Given the description of an element on the screen output the (x, y) to click on. 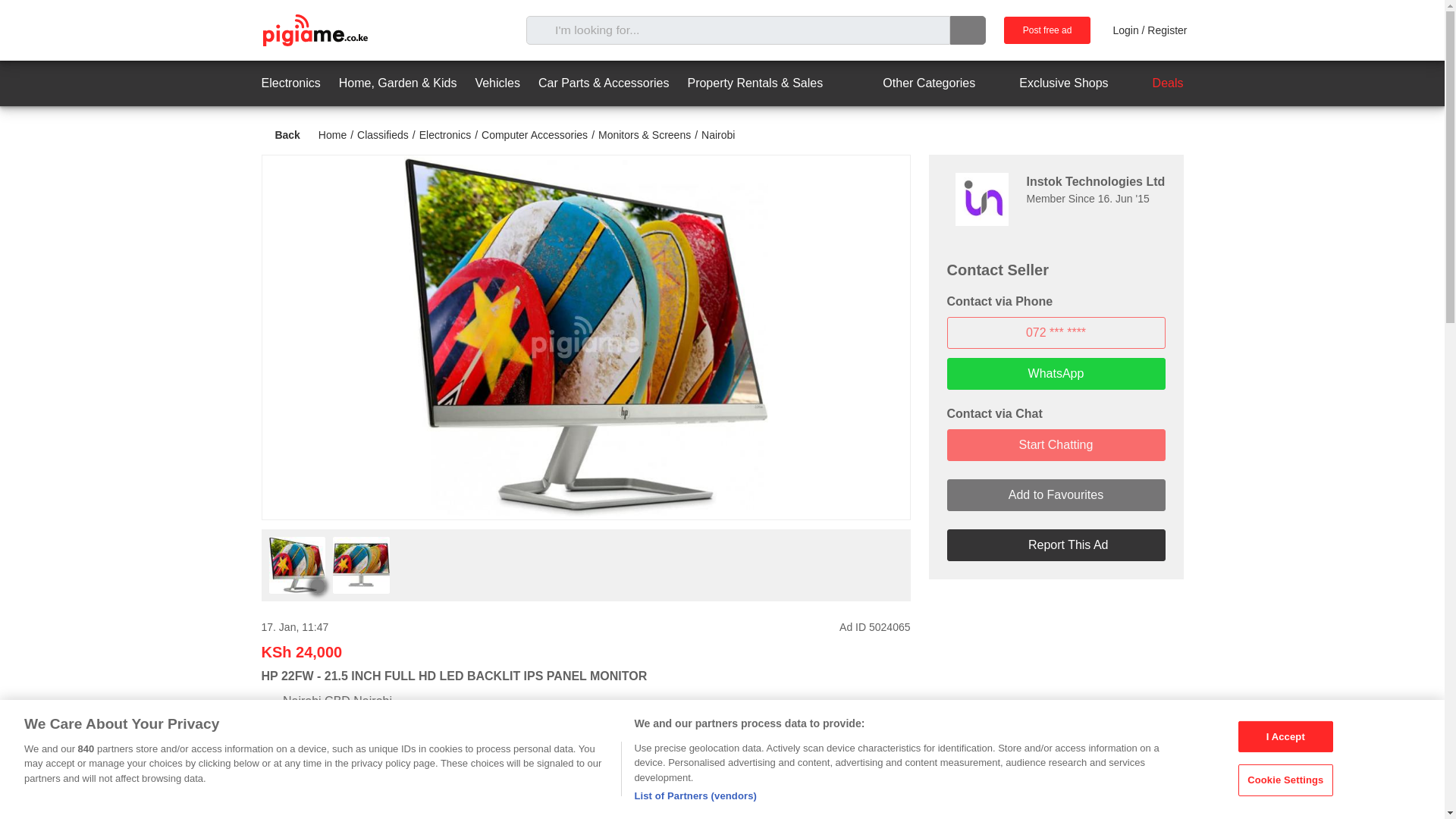
Nairobi (718, 134)
Deals (1155, 83)
WhatsApp (1055, 373)
Exclusive Shops (1050, 83)
Vehicles (497, 83)
Back (279, 134)
Start Chatting (1055, 445)
PigiaMe (314, 29)
Computer Accessories (534, 134)
Classifieds (382, 134)
Add to Favourites (1055, 495)
Home (332, 134)
Post free ad (1047, 30)
Other Categories (915, 83)
Electronics (444, 134)
